Given the description of an element on the screen output the (x, y) to click on. 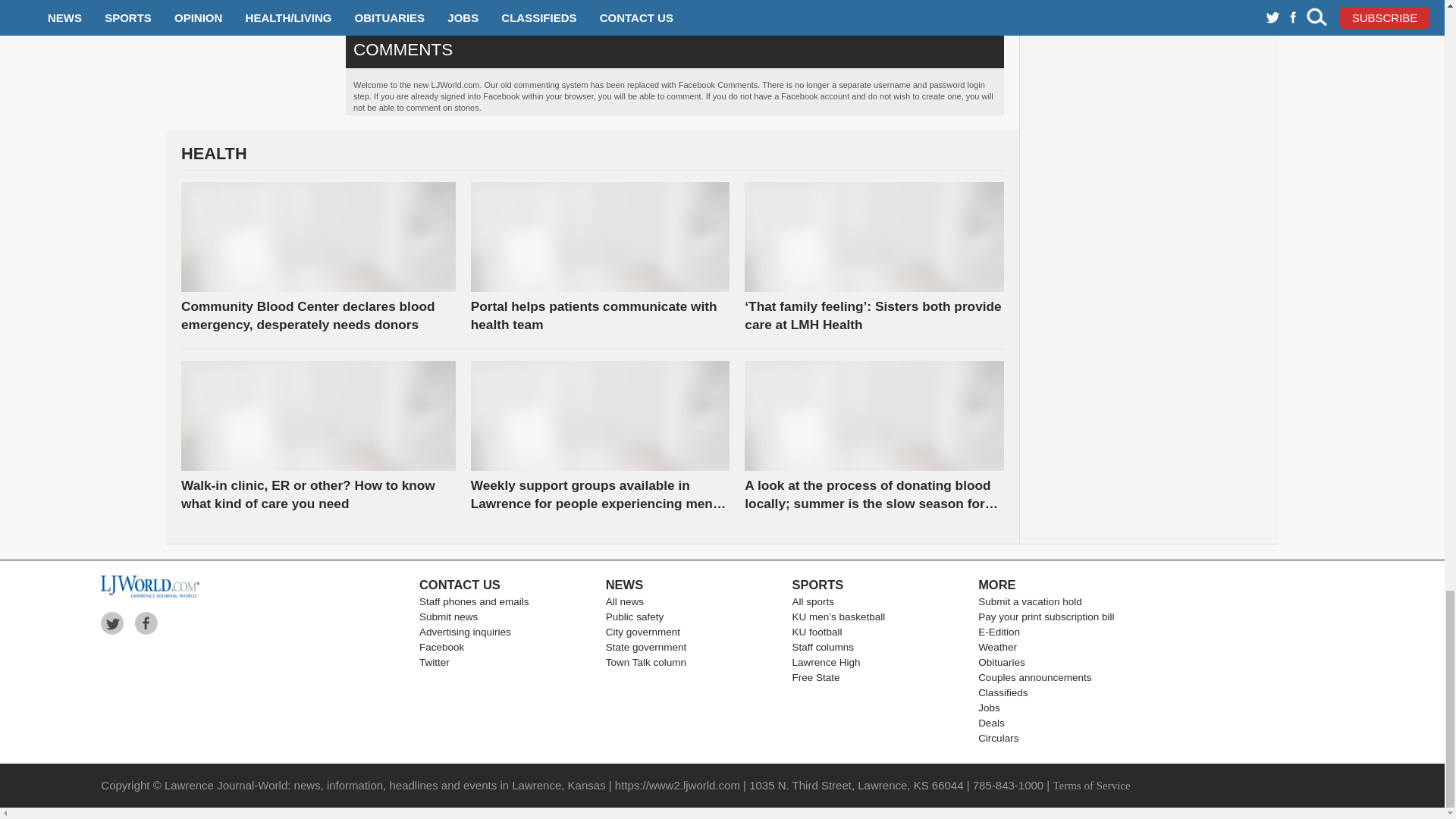
Portal helps patients communicate with health team (600, 315)
HEALTH (592, 157)
